Given the description of an element on the screen output the (x, y) to click on. 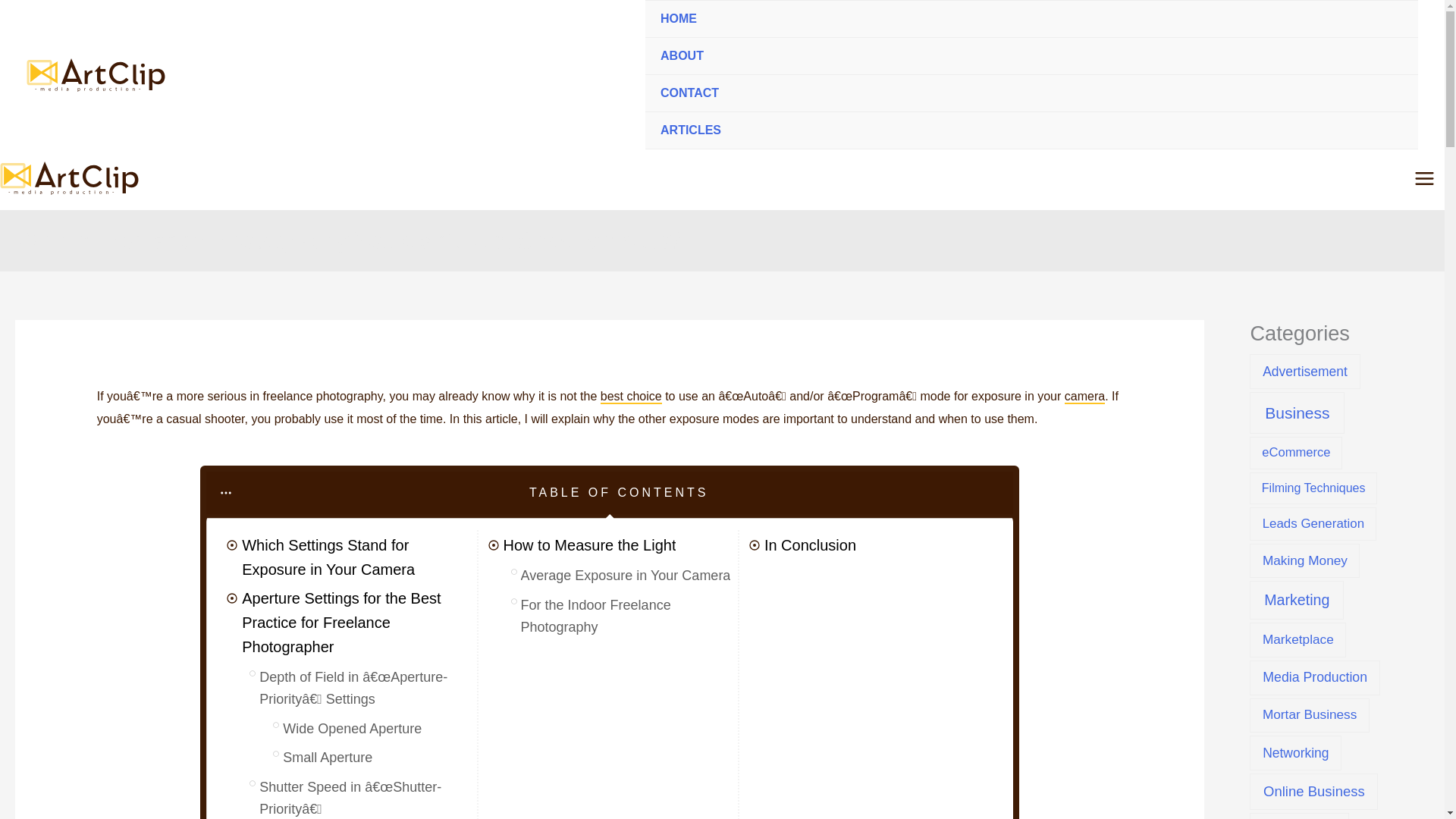
Average Exposure in Your Camera (625, 576)
Which Settings Stand for Exposure in Your Camera (355, 557)
Average Exposure in Your Camera (625, 576)
best choice (630, 396)
How to Measure the Light (590, 545)
Which Settings Stand for Exposure in Your Camera (355, 557)
In Conclusion (810, 545)
Wide Opened Aperture (352, 729)
ABOUT (1031, 56)
CONTACT (1031, 93)
How to Measure the Light (590, 545)
In Conclusion (810, 545)
Wide Opened Aperture (352, 729)
